Given the description of an element on the screen output the (x, y) to click on. 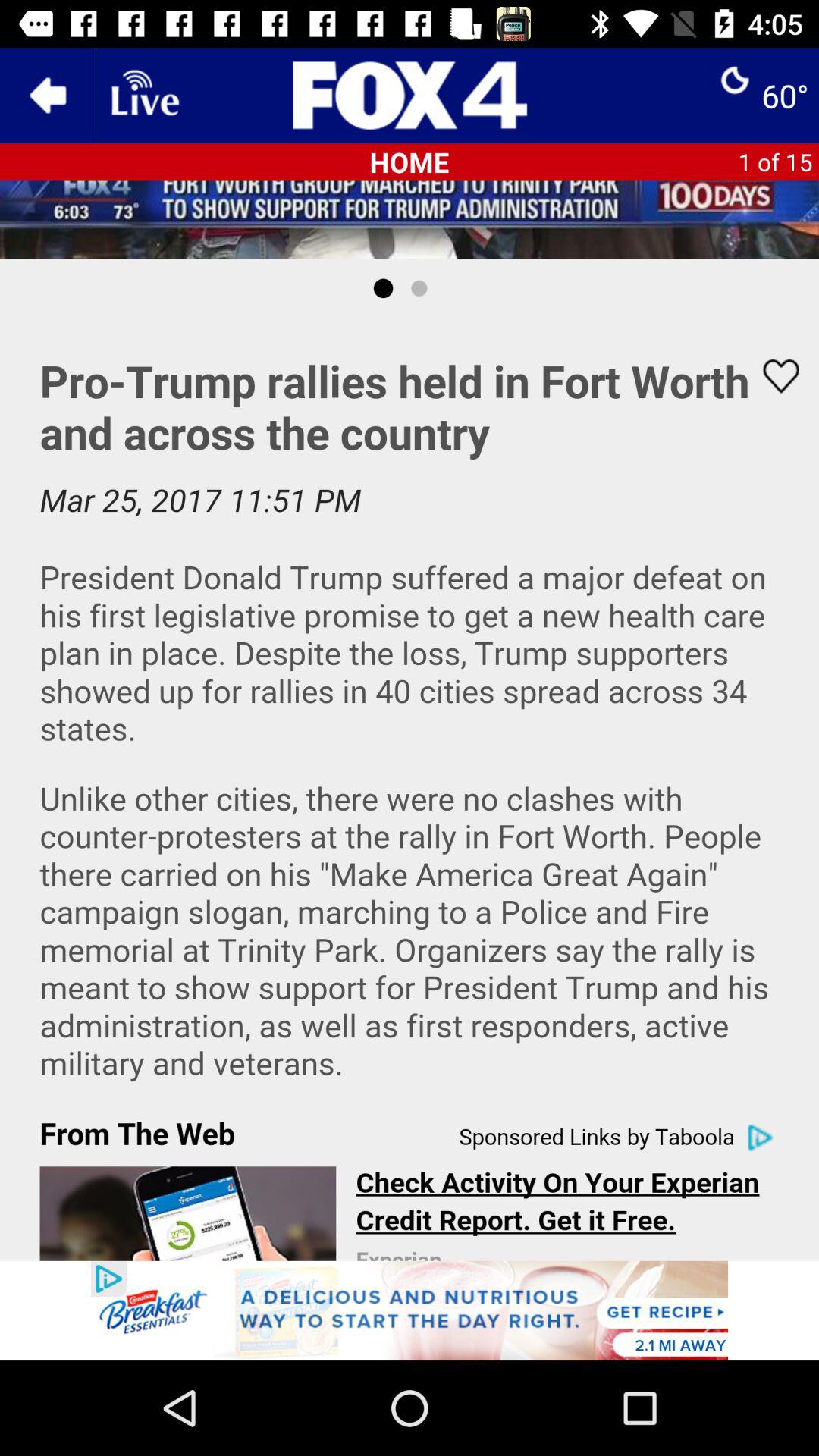
favourite (771, 375)
